Given the description of an element on the screen output the (x, y) to click on. 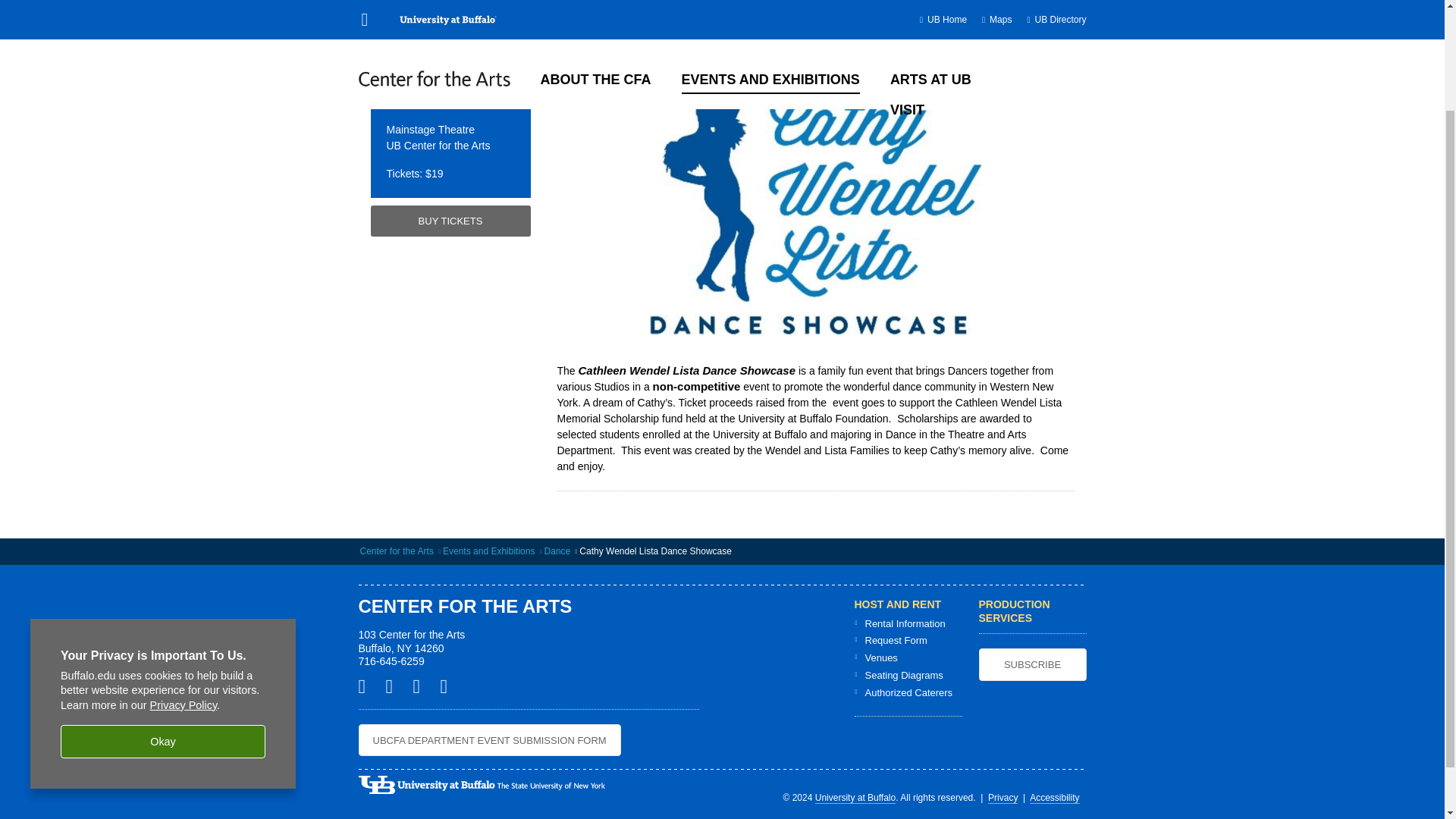
UBCFA Youtube (449, 686)
UBCFA Instagram (422, 686)
Center for the Arts (395, 551)
UBCFA Facebook (367, 686)
BUY TICKETS (449, 220)
UBCFA Twitter (394, 686)
